Given the description of an element on the screen output the (x, y) to click on. 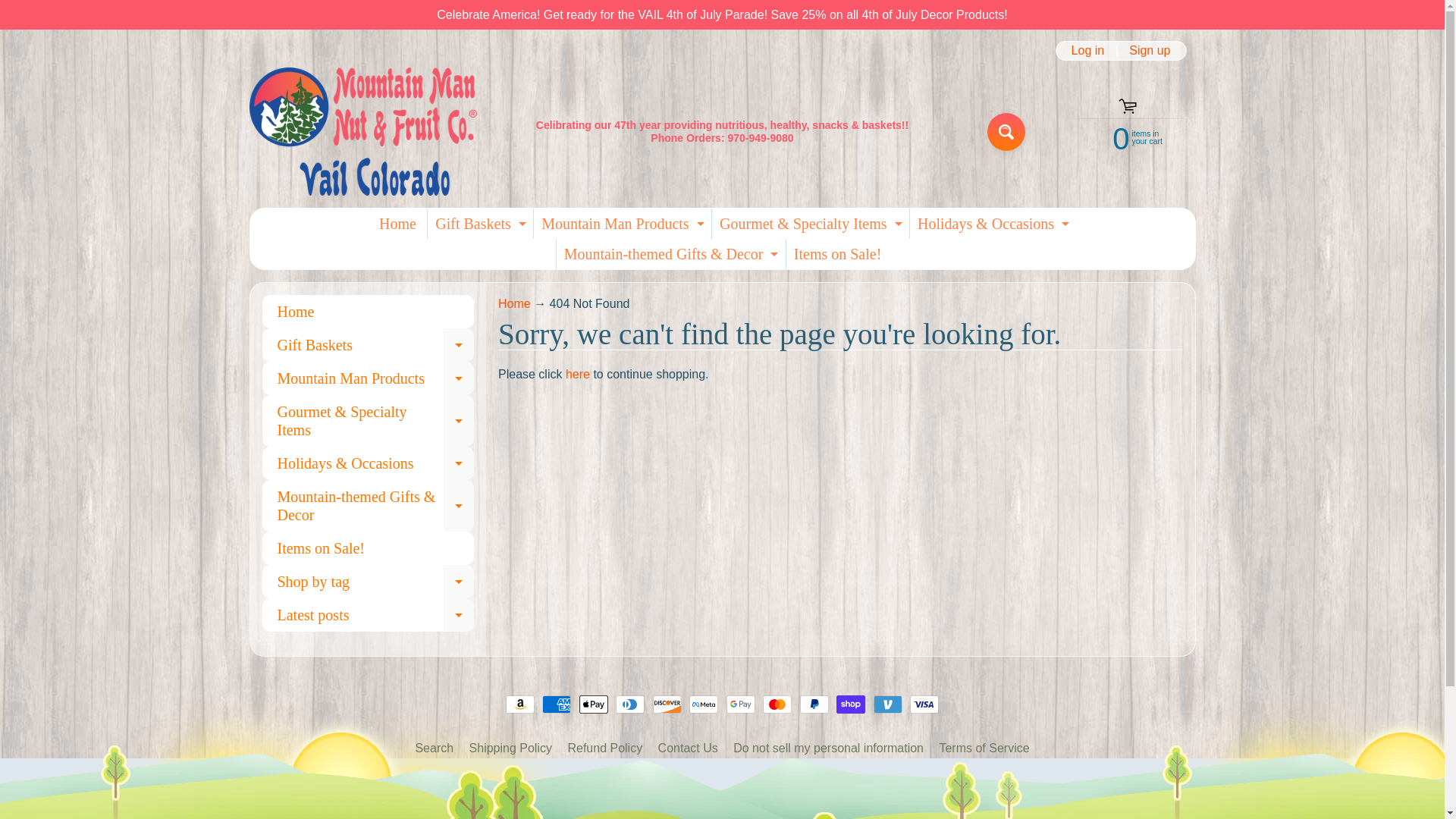
Discover (666, 704)
PayPal (813, 704)
Search (1122, 137)
Amazon (1006, 131)
Shop Pay (519, 704)
Meta Pay (849, 704)
Diners Club (702, 704)
Mastercard (630, 704)
American Express (777, 704)
